Given the description of an element on the screen output the (x, y) to click on. 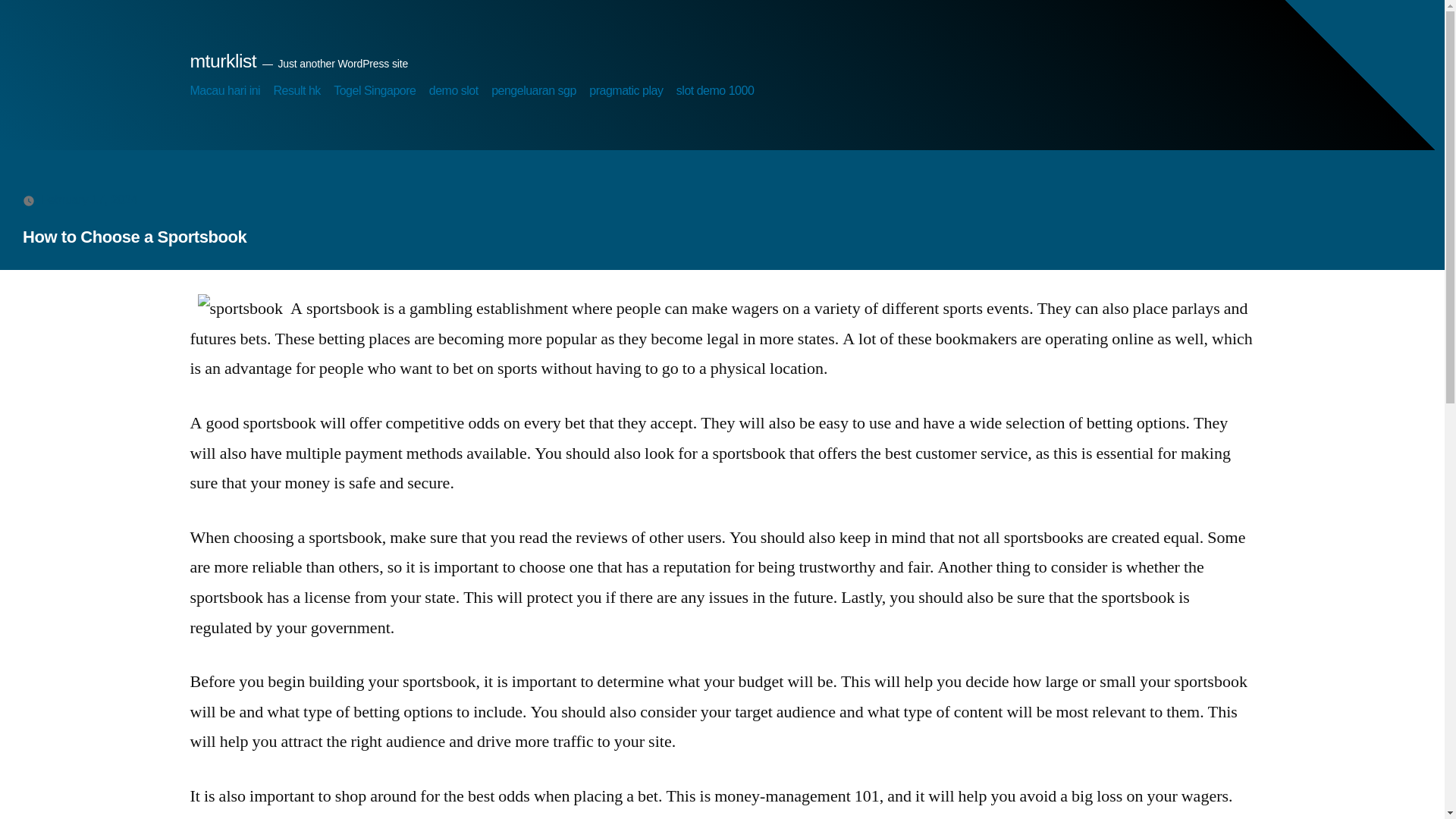
Togel Singapore (373, 90)
pragmatic play (625, 90)
Macau hari ini (224, 90)
February 17, 2024 (89, 199)
Result hk (296, 90)
slot demo 1000 (715, 90)
demo slot (454, 90)
mturklist (222, 60)
pengeluaran sgp (534, 90)
